Given the description of an element on the screen output the (x, y) to click on. 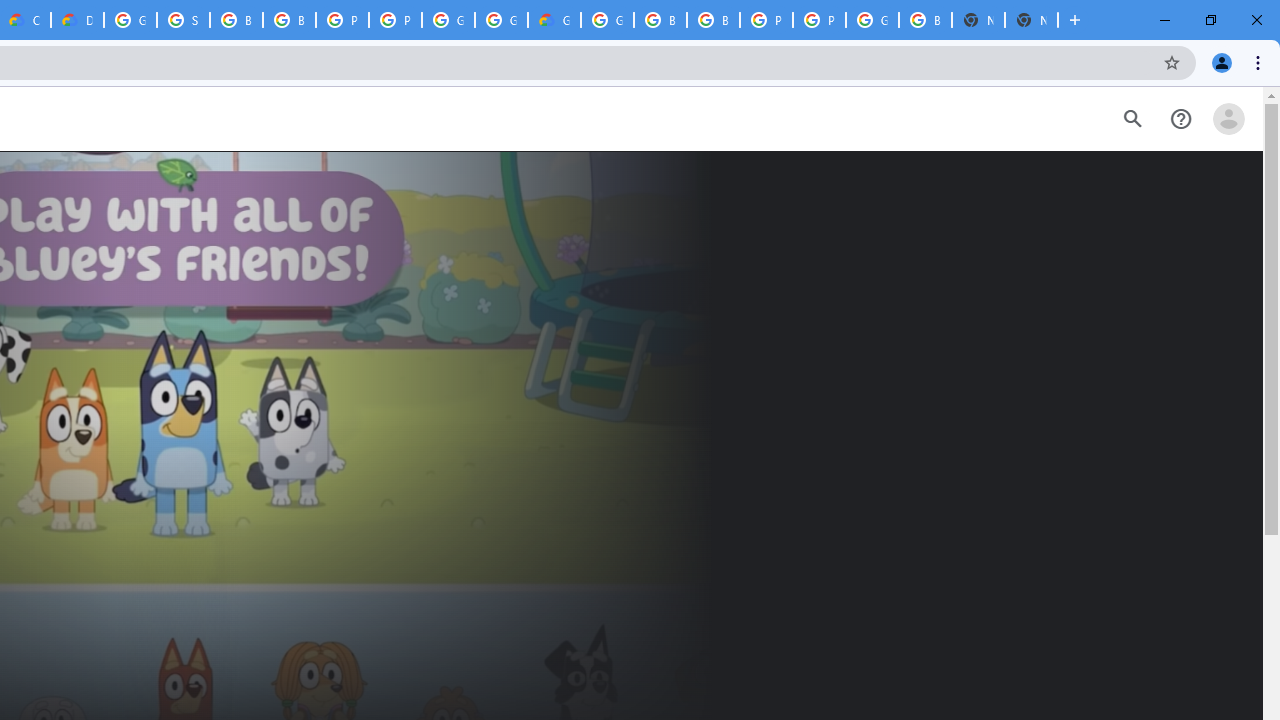
Google Cloud Platform (501, 20)
New Tab (1031, 20)
Google Cloud Estimate Summary (554, 20)
Browse Chrome as a guest - Computer - Google Chrome Help (289, 20)
Google Cloud Platform (607, 20)
Browse Chrome as a guest - Computer - Google Chrome Help (235, 20)
